Given the description of an element on the screen output the (x, y) to click on. 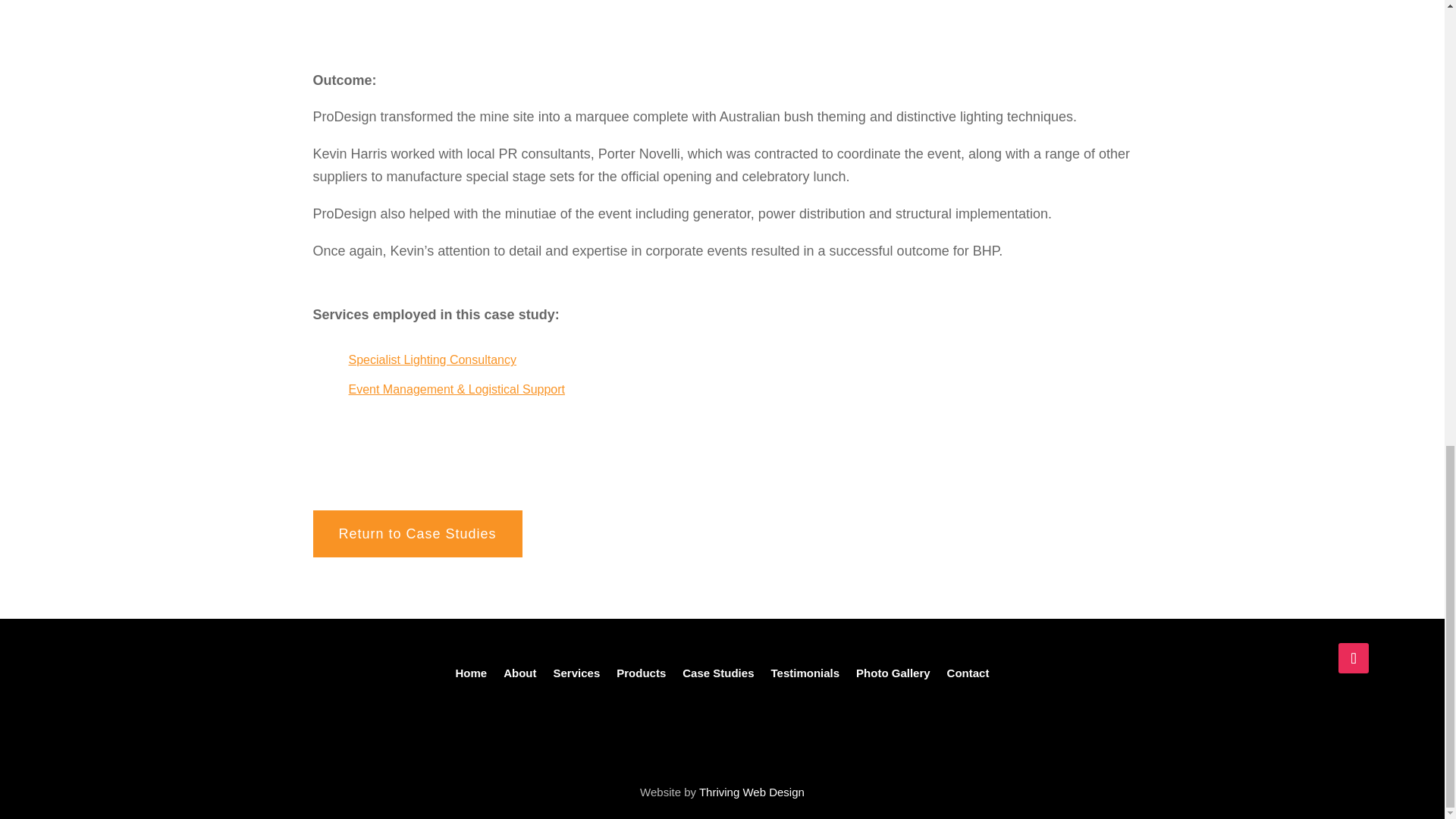
About (519, 676)
Home (470, 676)
Products (640, 676)
Follow on Instagram (1353, 657)
Return to Case Studies (417, 533)
Services (576, 676)
